Given the description of an element on the screen output the (x, y) to click on. 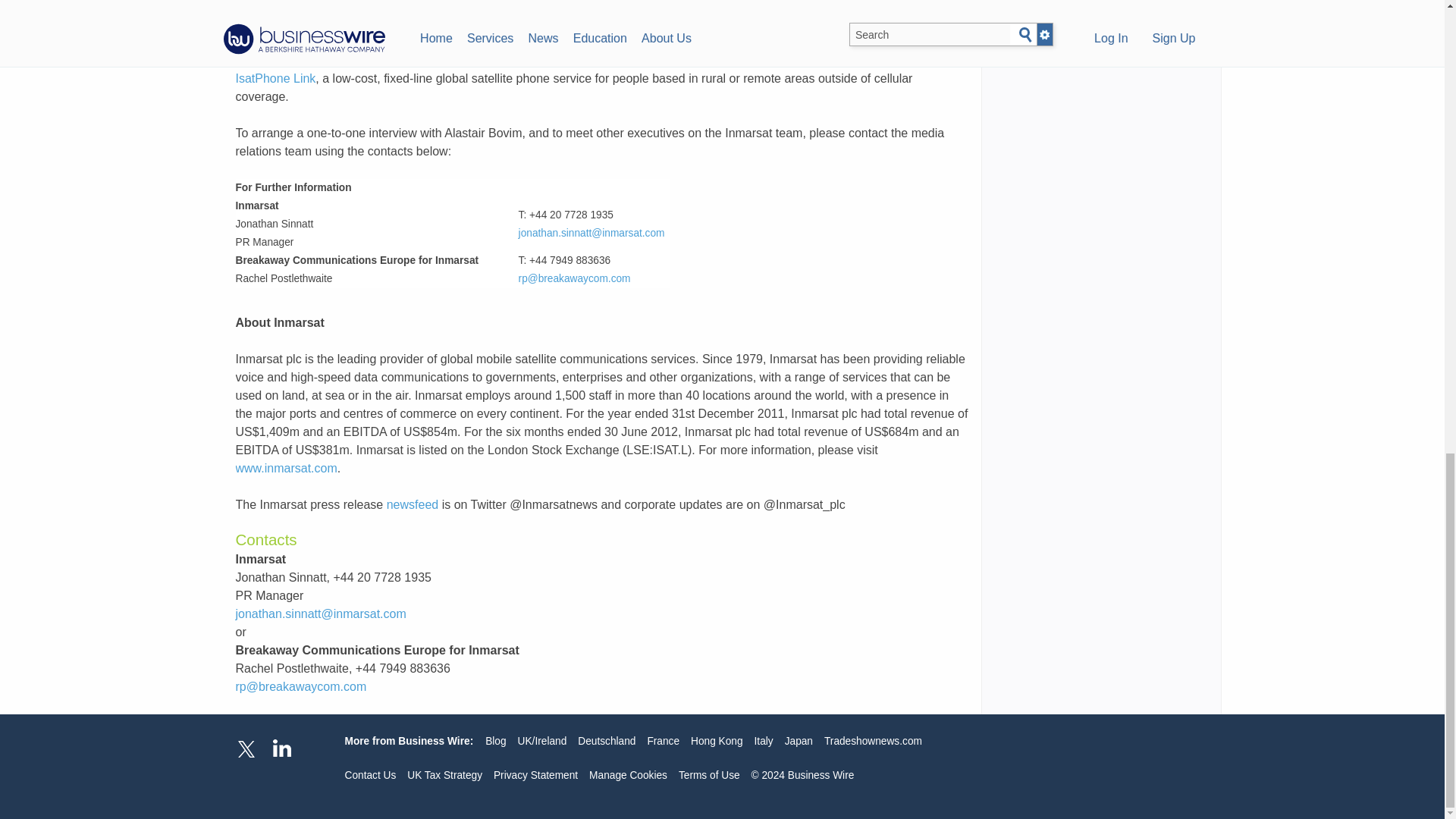
www.inmarsat.com (285, 468)
BGAN M2M (408, 23)
IsatPhone Pro (805, 23)
IsatPhone Link (274, 78)
newsfeed (413, 504)
BGAN Link (622, 6)
